Given the description of an element on the screen output the (x, y) to click on. 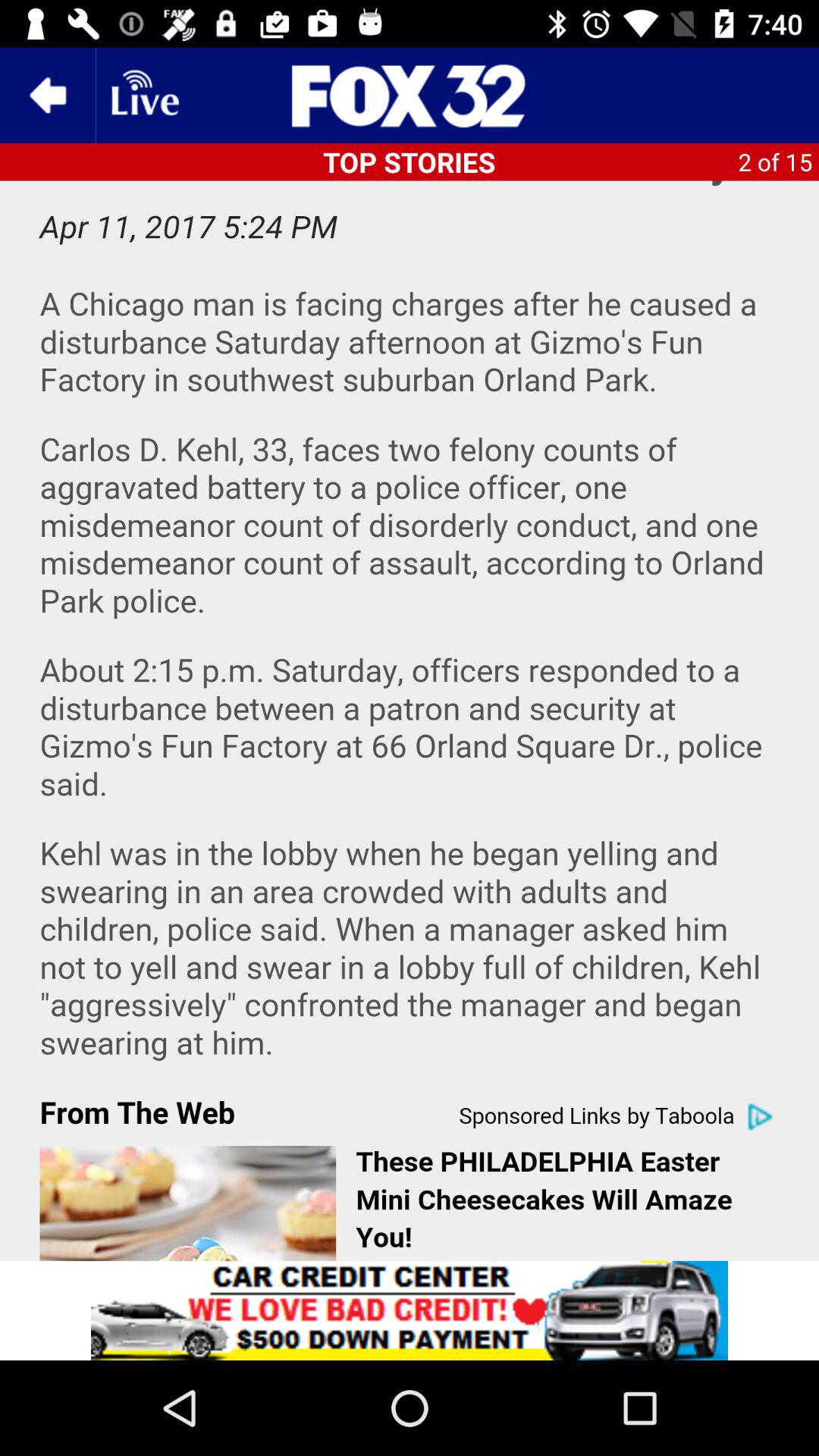
broadcast in real-time (143, 95)
